Given the description of an element on the screen output the (x, y) to click on. 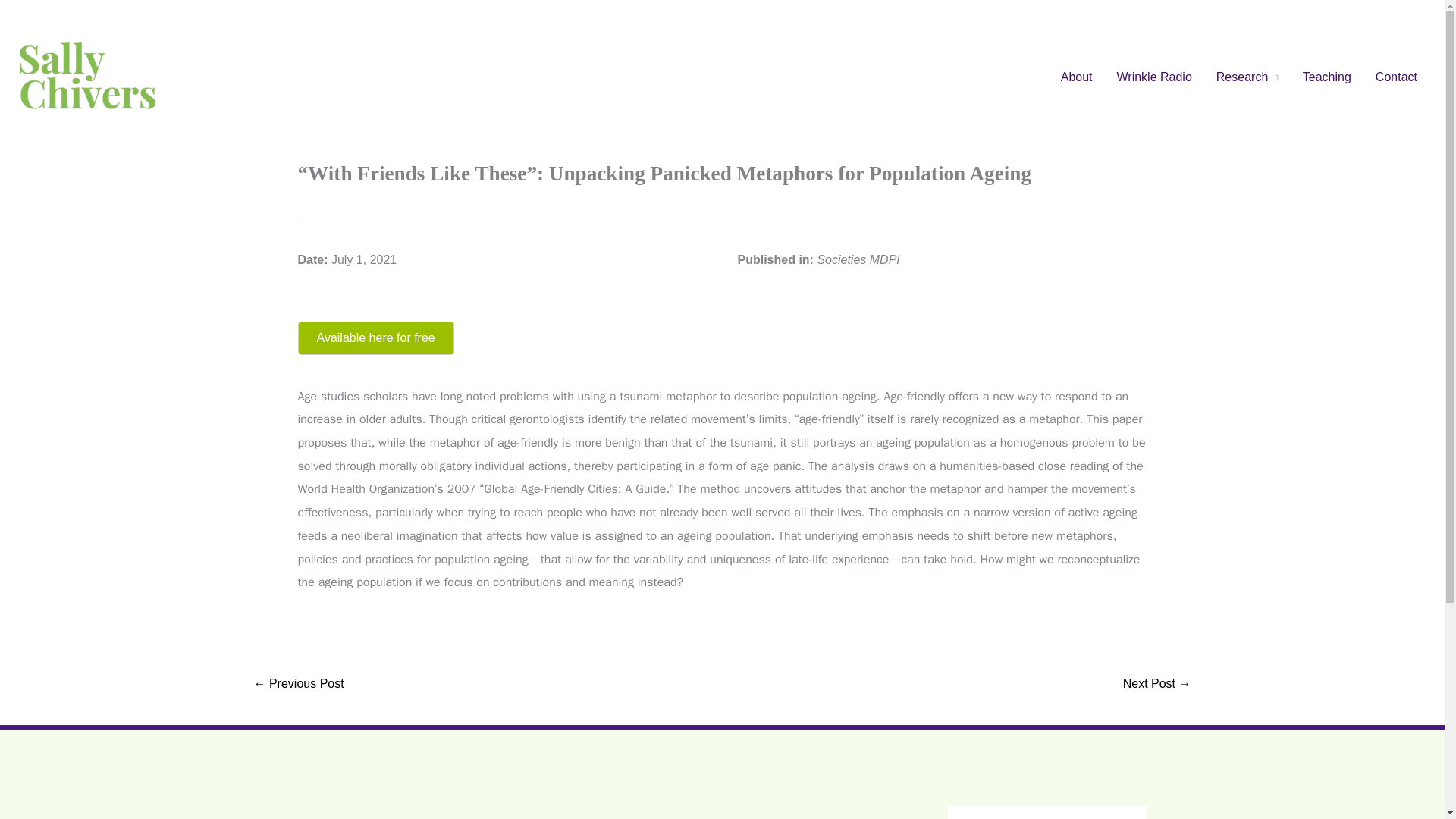
Archived Academic Articles (298, 684)
Available here for free (374, 337)
Research (1247, 77)
Wrinkle Radio (1154, 77)
Teaching (1326, 77)
Episode 1: The Power of Greyscale (1156, 684)
